Given the description of an element on the screen output the (x, y) to click on. 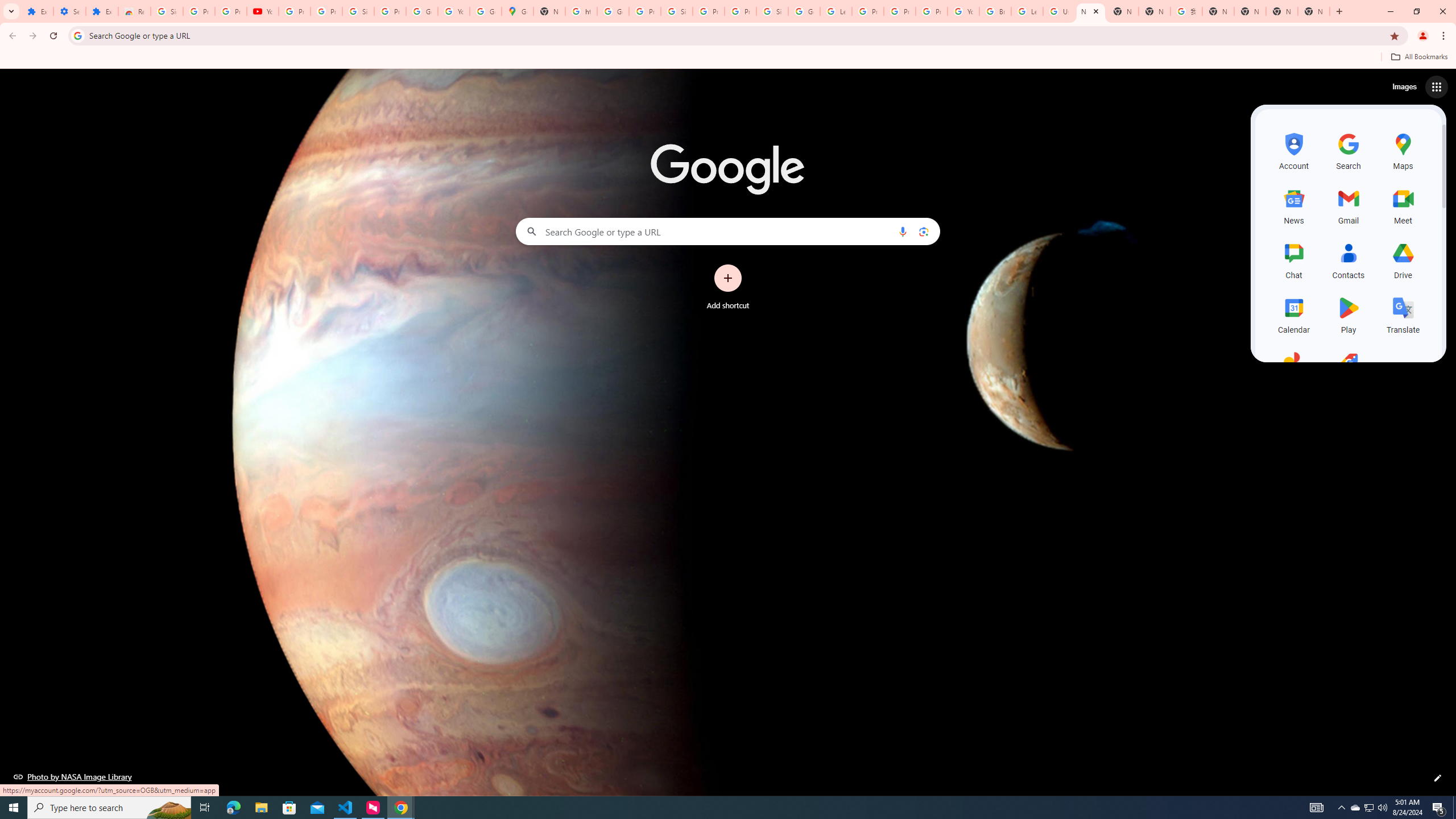
Drive, row 3 of 5 and column 3 of 3 in the first section (1402, 259)
Extensions (101, 11)
Privacy Help Center - Policies Help (899, 11)
Google Maps (517, 11)
Contacts, row 3 of 5 and column 2 of 3 in the first section (1348, 259)
Sign in - Google Accounts (358, 11)
New Tab (1123, 11)
Meet, row 2 of 5 and column 3 of 3 in the first section (1402, 204)
Extensions (37, 11)
